Given the description of an element on the screen output the (x, y) to click on. 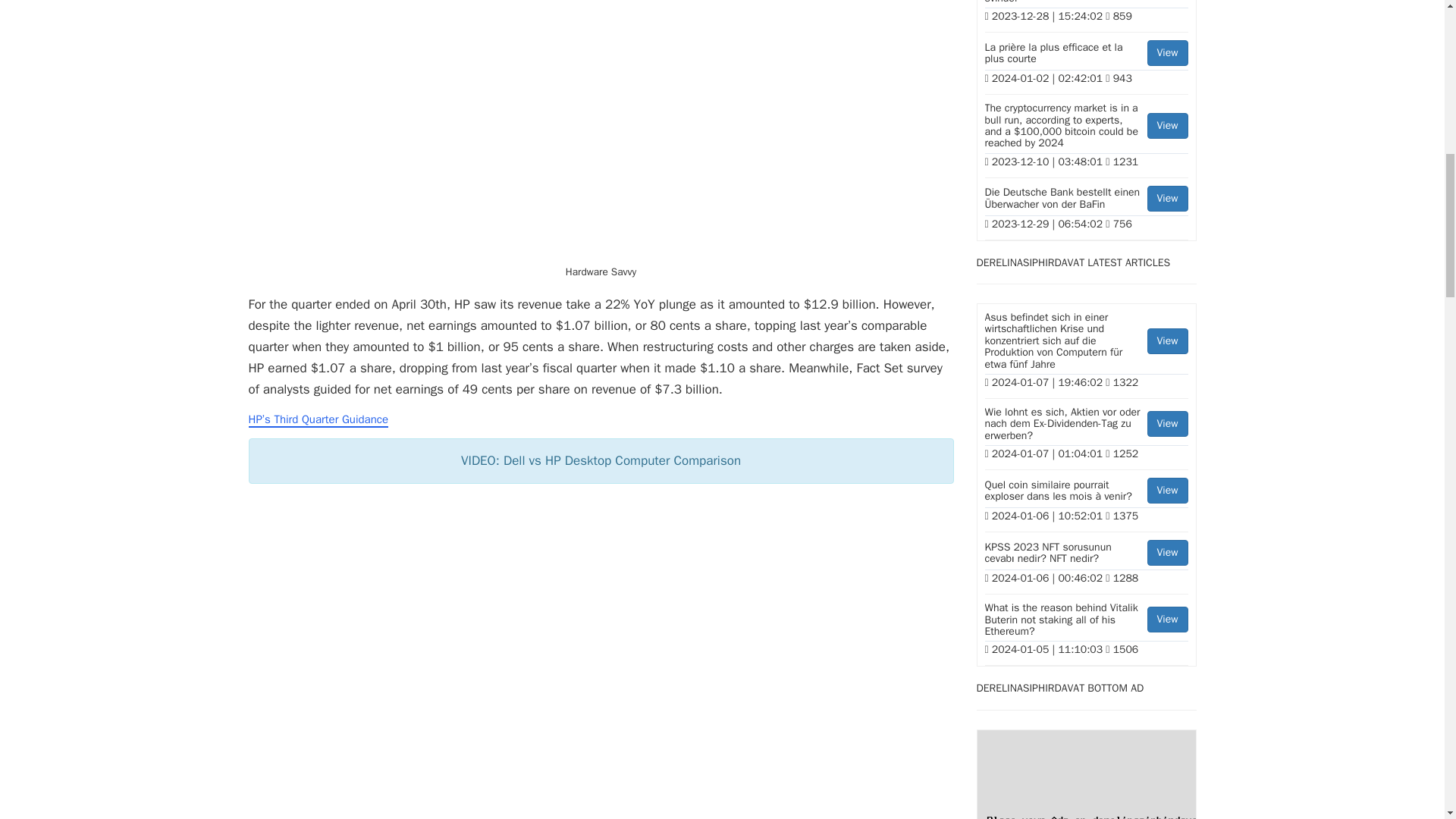
View (1167, 423)
View (1167, 490)
View (1167, 125)
View (1167, 53)
View (1167, 340)
